Given the description of an element on the screen output the (x, y) to click on. 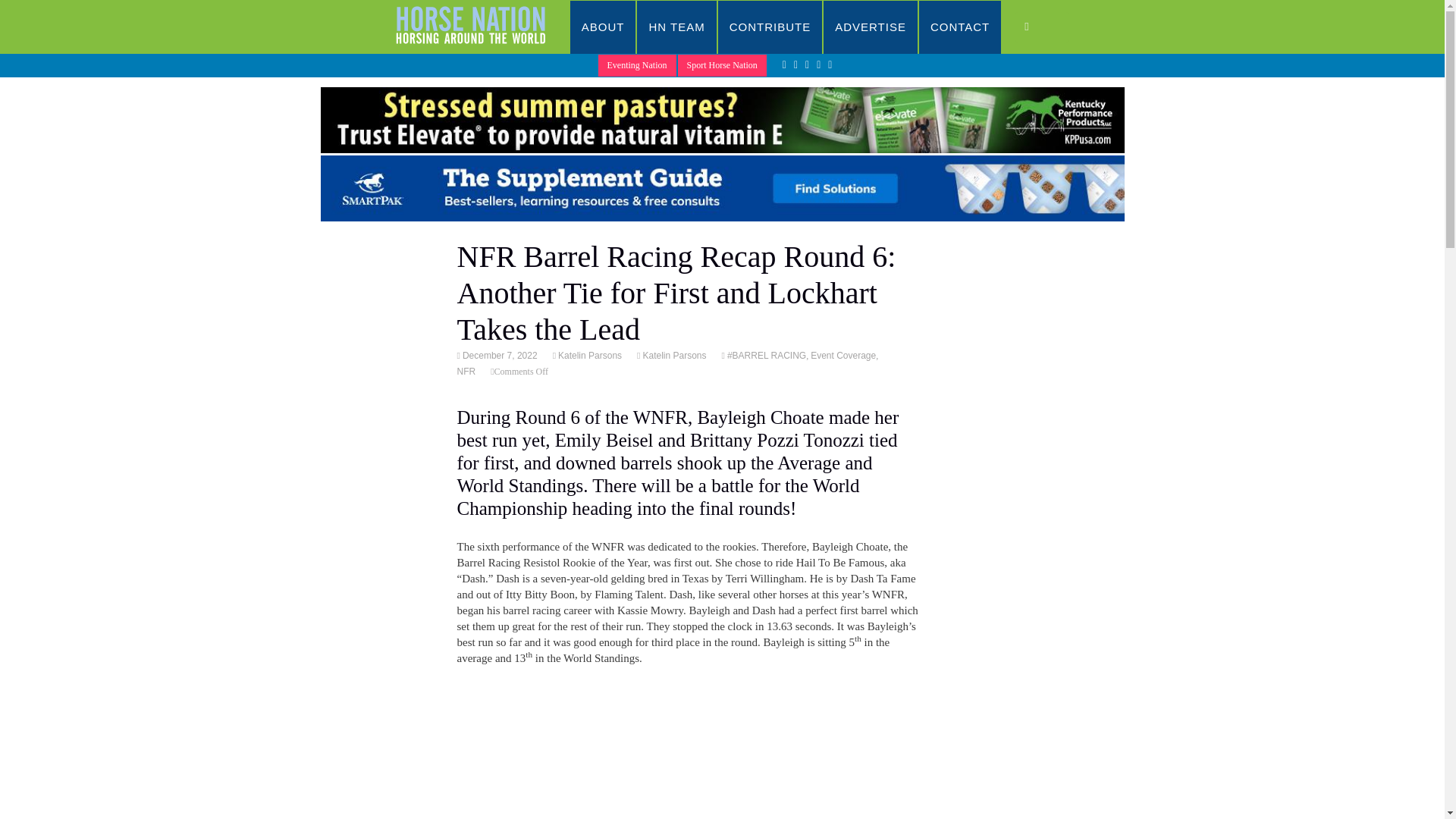
Katelin Parsons (588, 355)
HN TEAM (676, 27)
Sport Horse Nation (722, 65)
CONTRIBUTE (769, 27)
CONTACT (959, 27)
ADVERTISE (870, 27)
SEARCH (1041, 27)
Katelin Parsons (673, 355)
December 7, 2022 (498, 355)
View all posts by Katelin Parsons (588, 355)
